Given the description of an element on the screen output the (x, y) to click on. 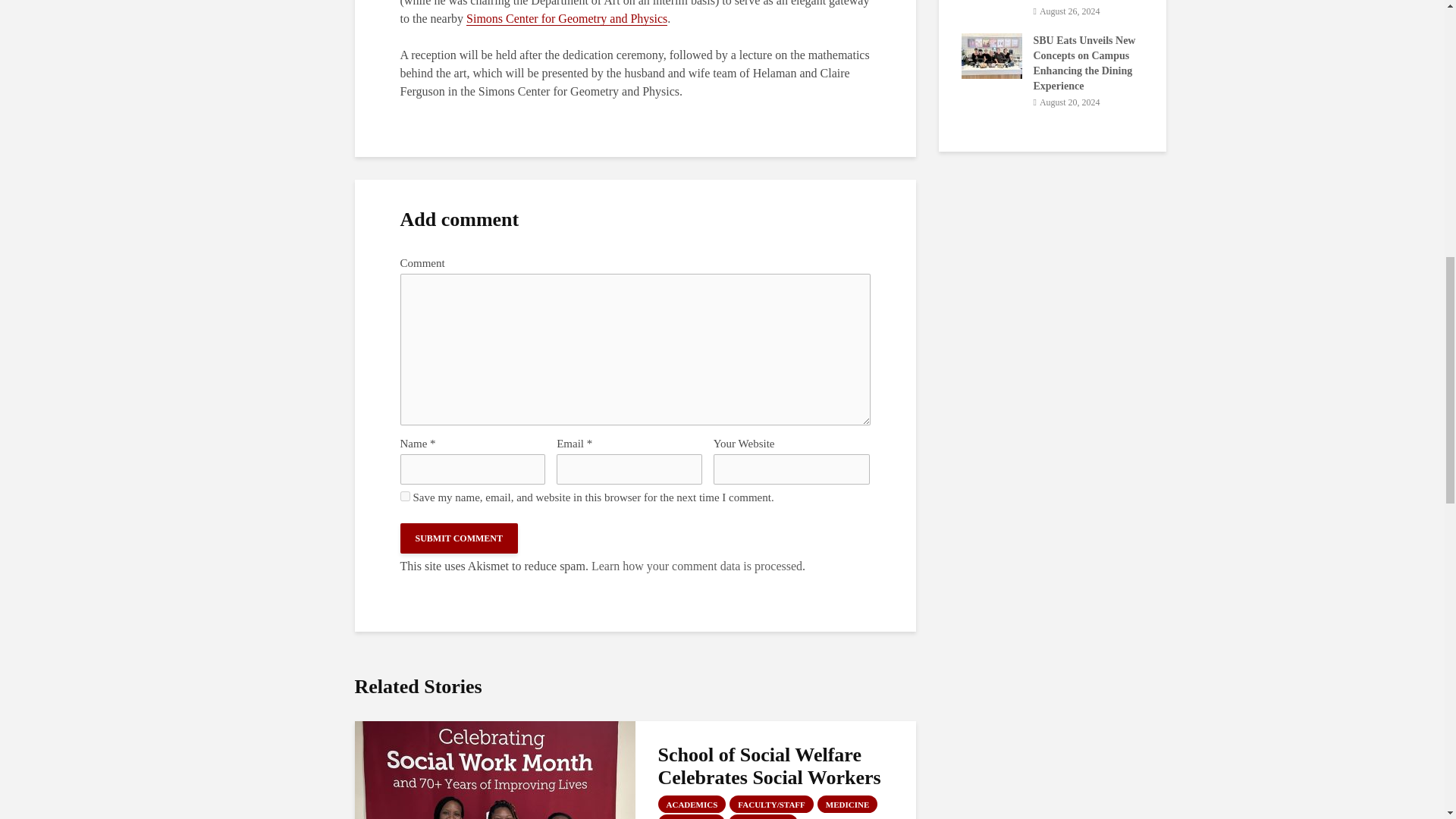
SBU Student-Athletes Inspire LILTA Students (627, 54)
Submit Comment (459, 538)
yes (405, 496)
